Given the description of an element on the screen output the (x, y) to click on. 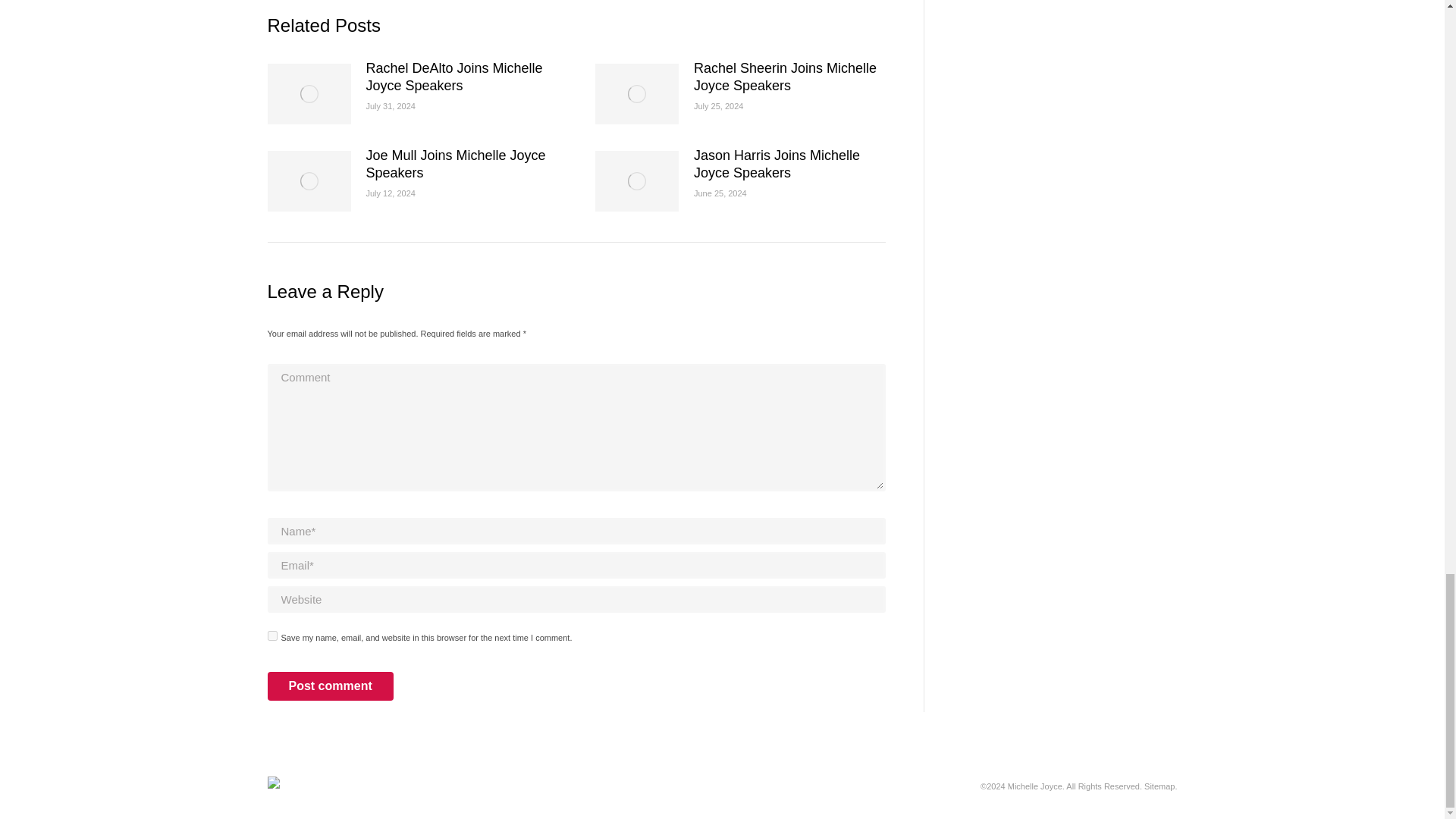
yes (271, 635)
